Given the description of an element on the screen output the (x, y) to click on. 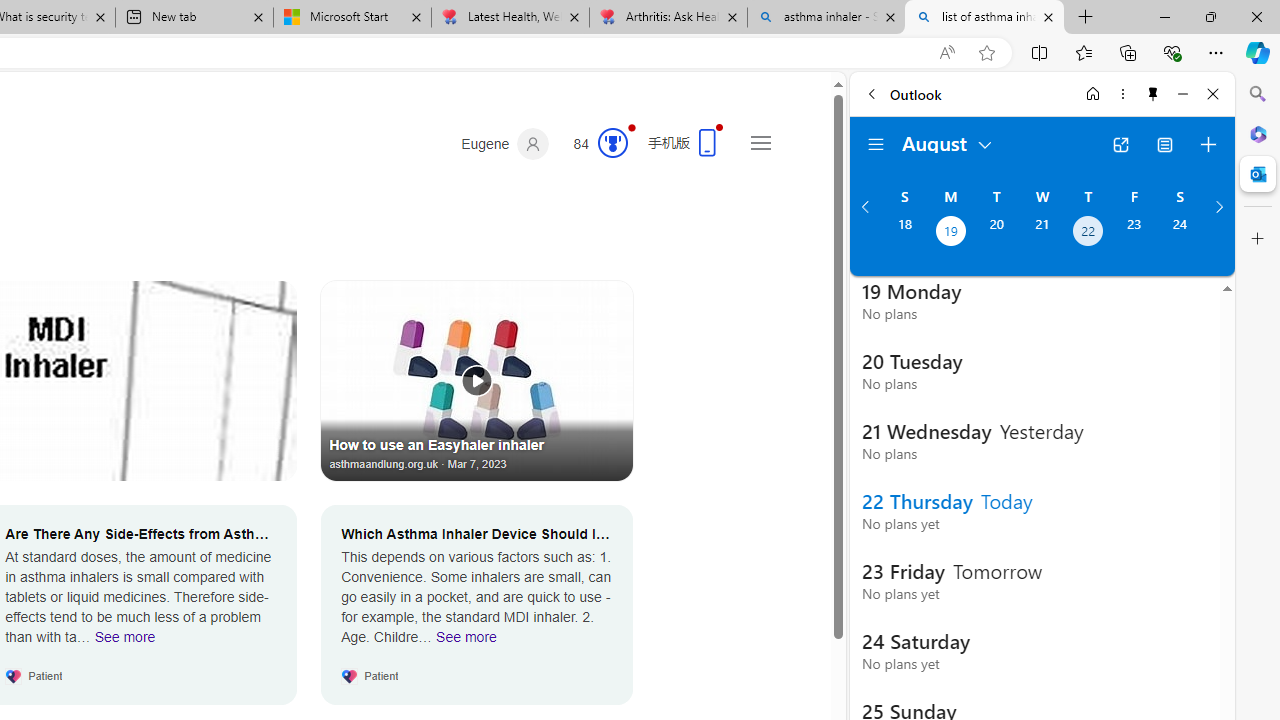
Eugene (505, 143)
How to use an Easyhaler inhaler (477, 380)
Unpin side pane (1153, 93)
Create event (1208, 144)
Microsoft Rewards 84 (594, 143)
list of asthma inhalers uk - Search (984, 17)
